Given the description of an element on the screen output the (x, y) to click on. 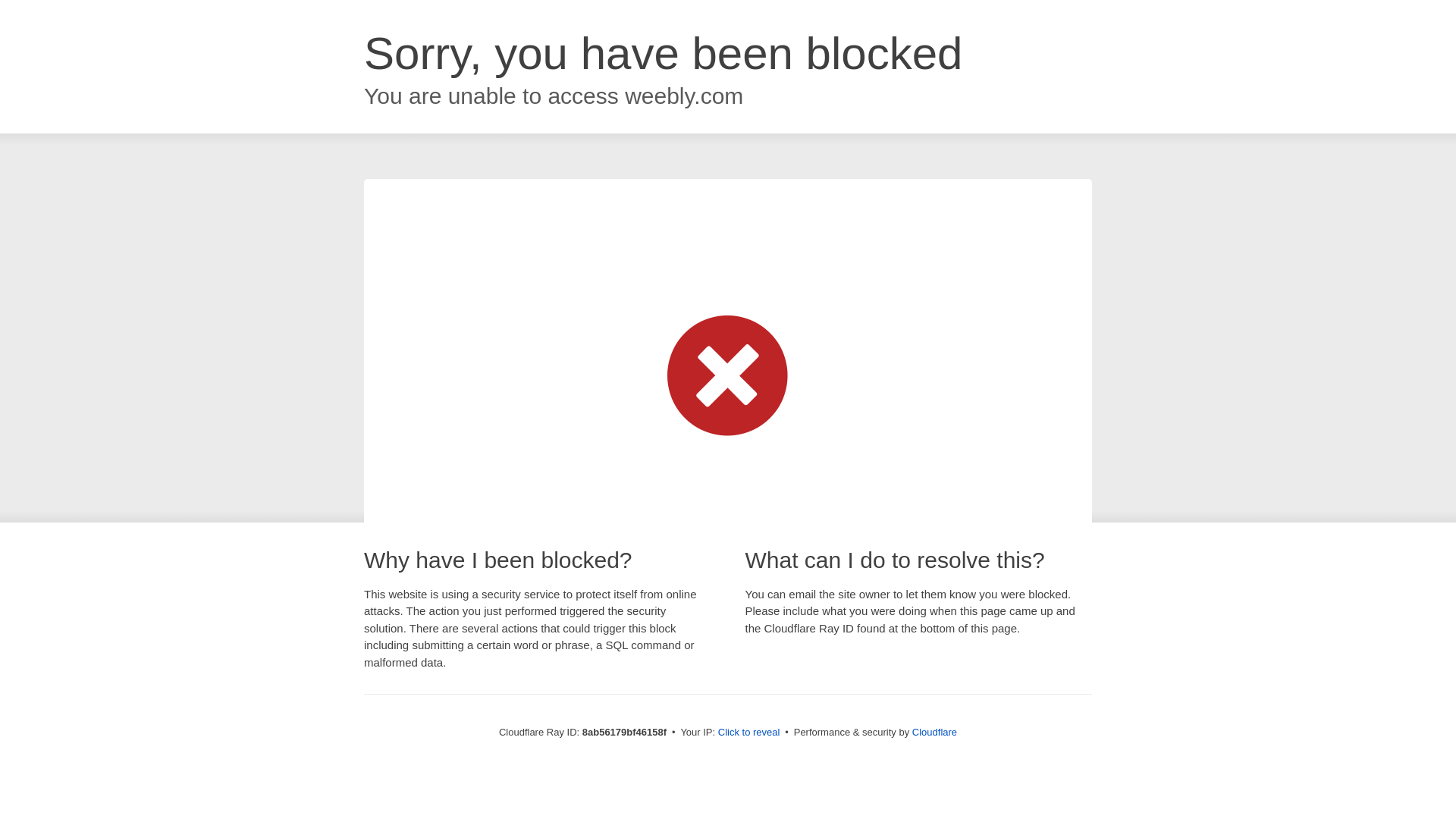
Cloudflare (934, 731)
Click to reveal (748, 732)
